Given the description of an element on the screen output the (x, y) to click on. 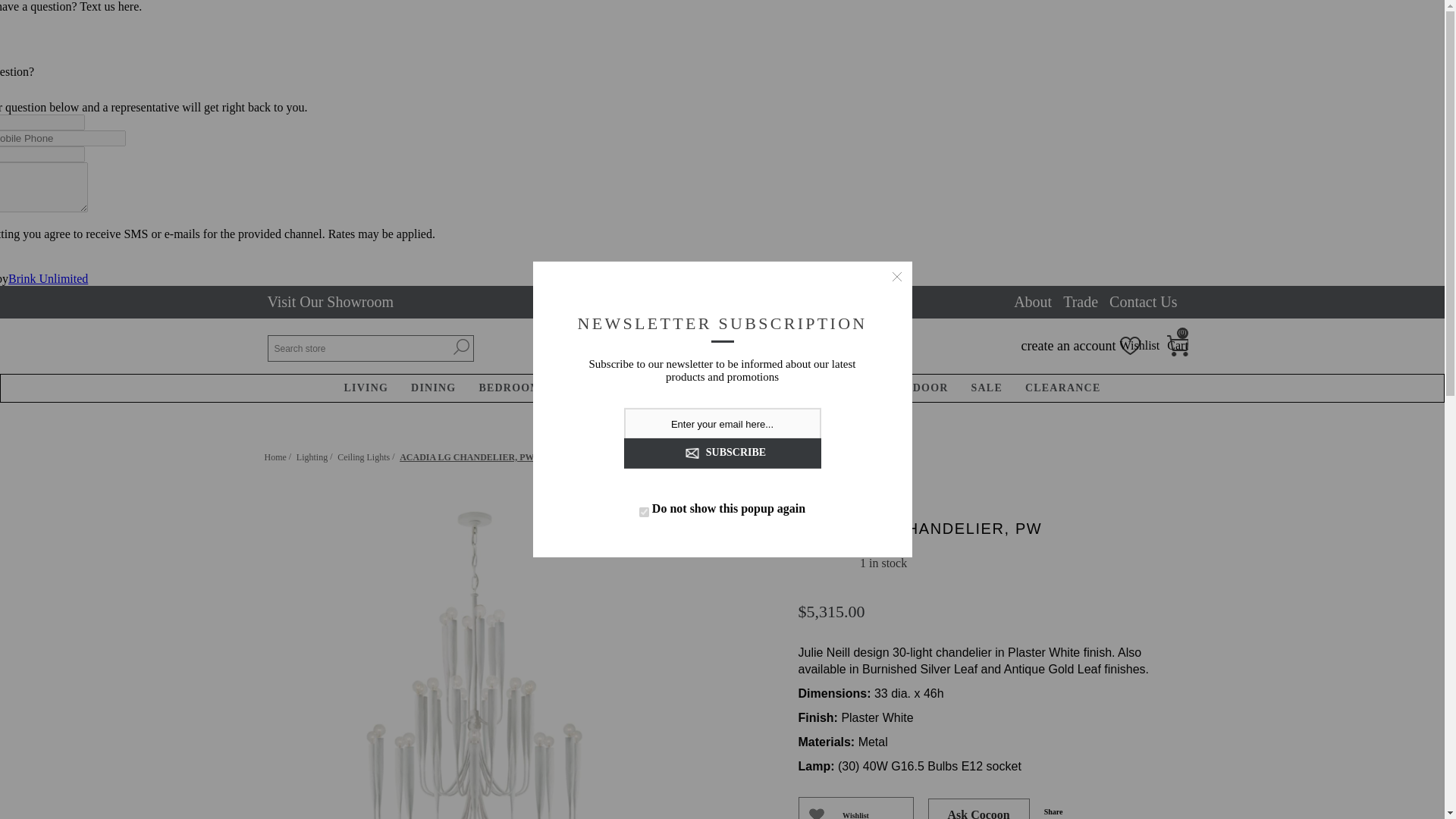
Cocoon Furnishings (729, 345)
Trade Program (1079, 301)
Search (461, 346)
Wishlist (1139, 345)
Sales Promos (703, 301)
Sale promos (703, 301)
Wishlist (854, 807)
Visit Our Showroom (329, 301)
Trade (1079, 301)
About Us (1032, 301)
Visit Our Showroom (329, 301)
LIVING (366, 388)
About (1032, 301)
on (644, 511)
Contact Us (1142, 301)
